Given the description of an element on the screen output the (x, y) to click on. 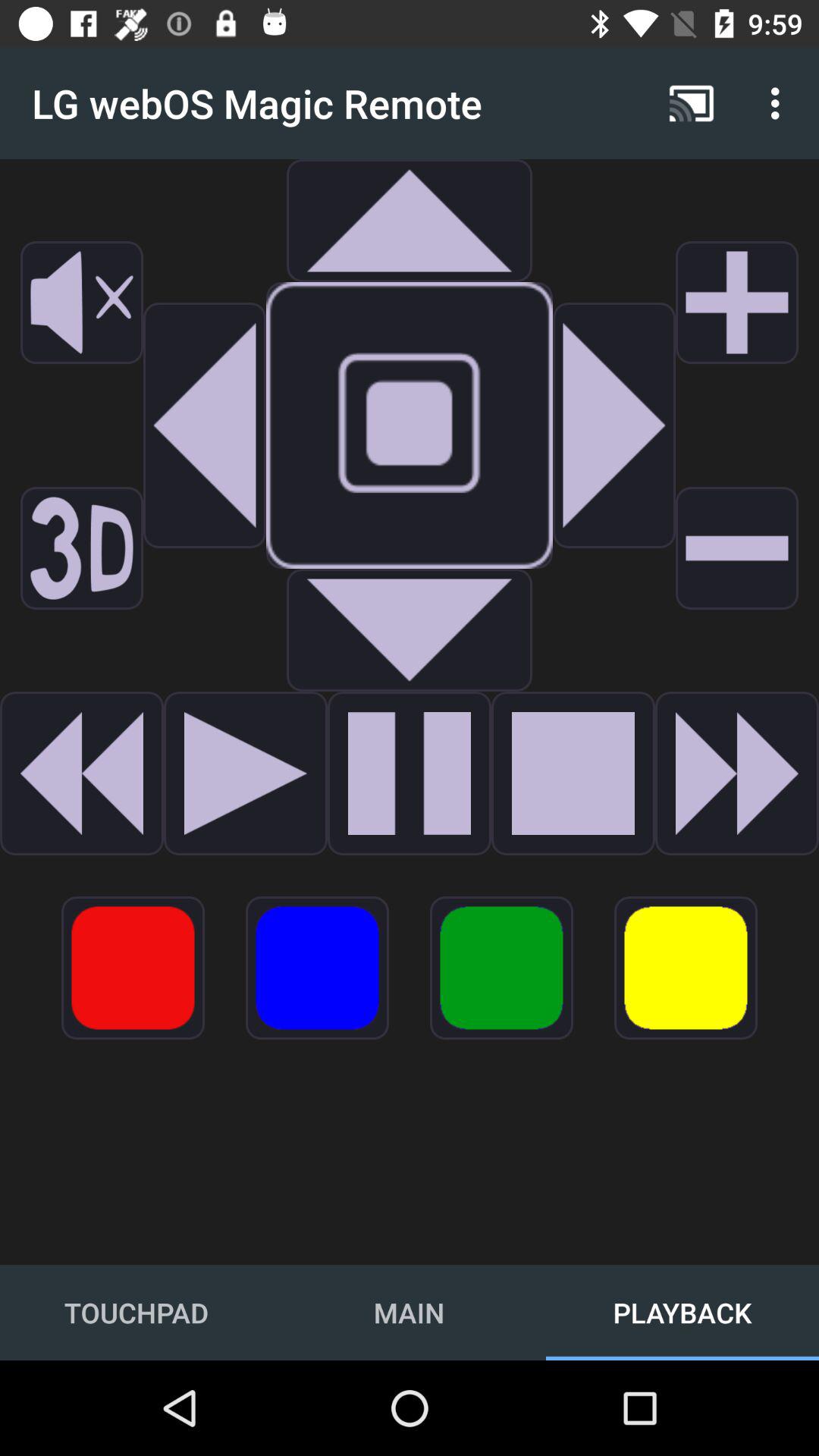
choose item above touchpad (132, 967)
